Given the description of an element on the screen output the (x, y) to click on. 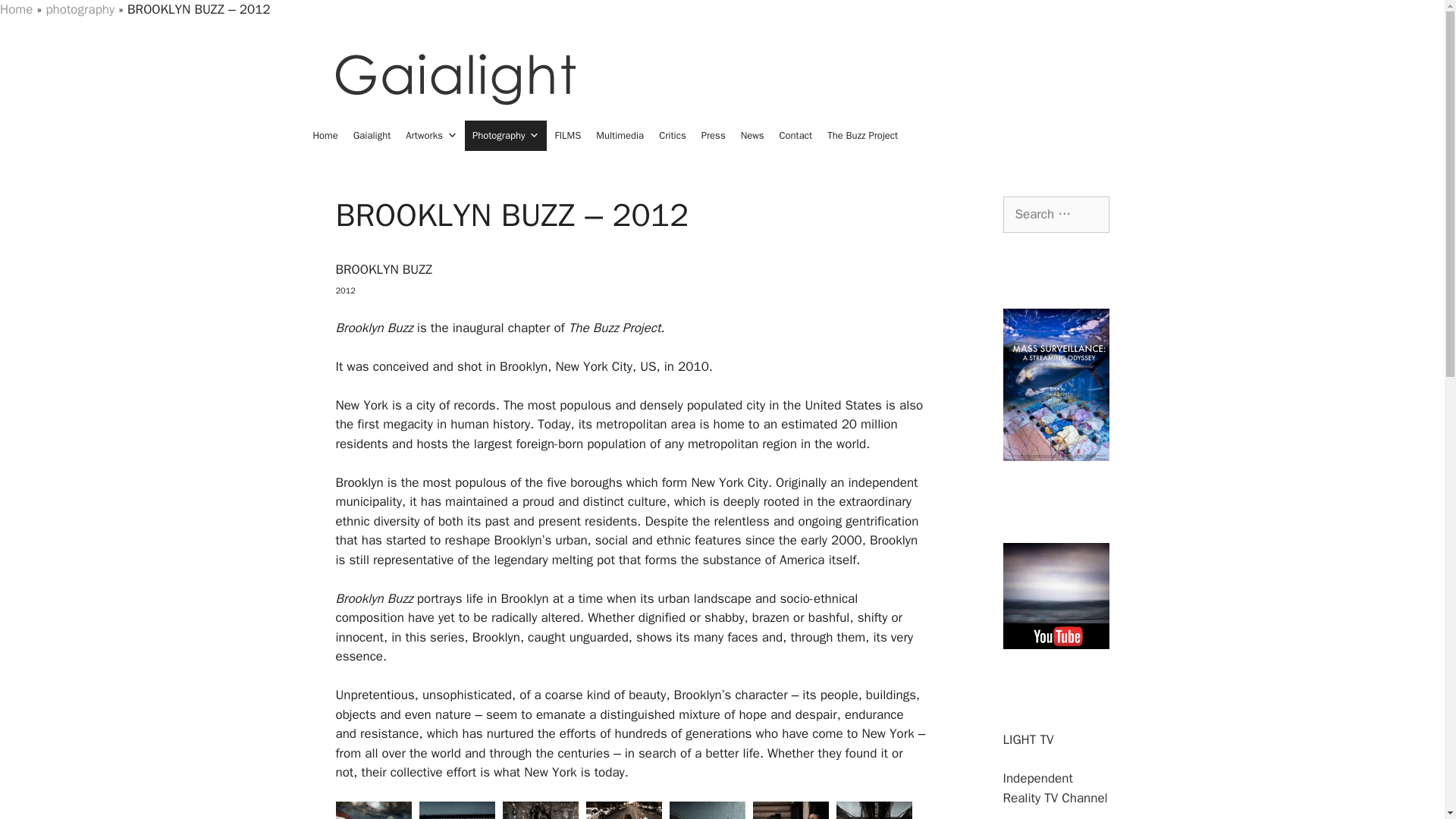
Artworks (430, 135)
Home (324, 135)
Home (16, 9)
photography (80, 9)
Photography (505, 135)
Gaialight (372, 135)
